Given the description of an element on the screen output the (x, y) to click on. 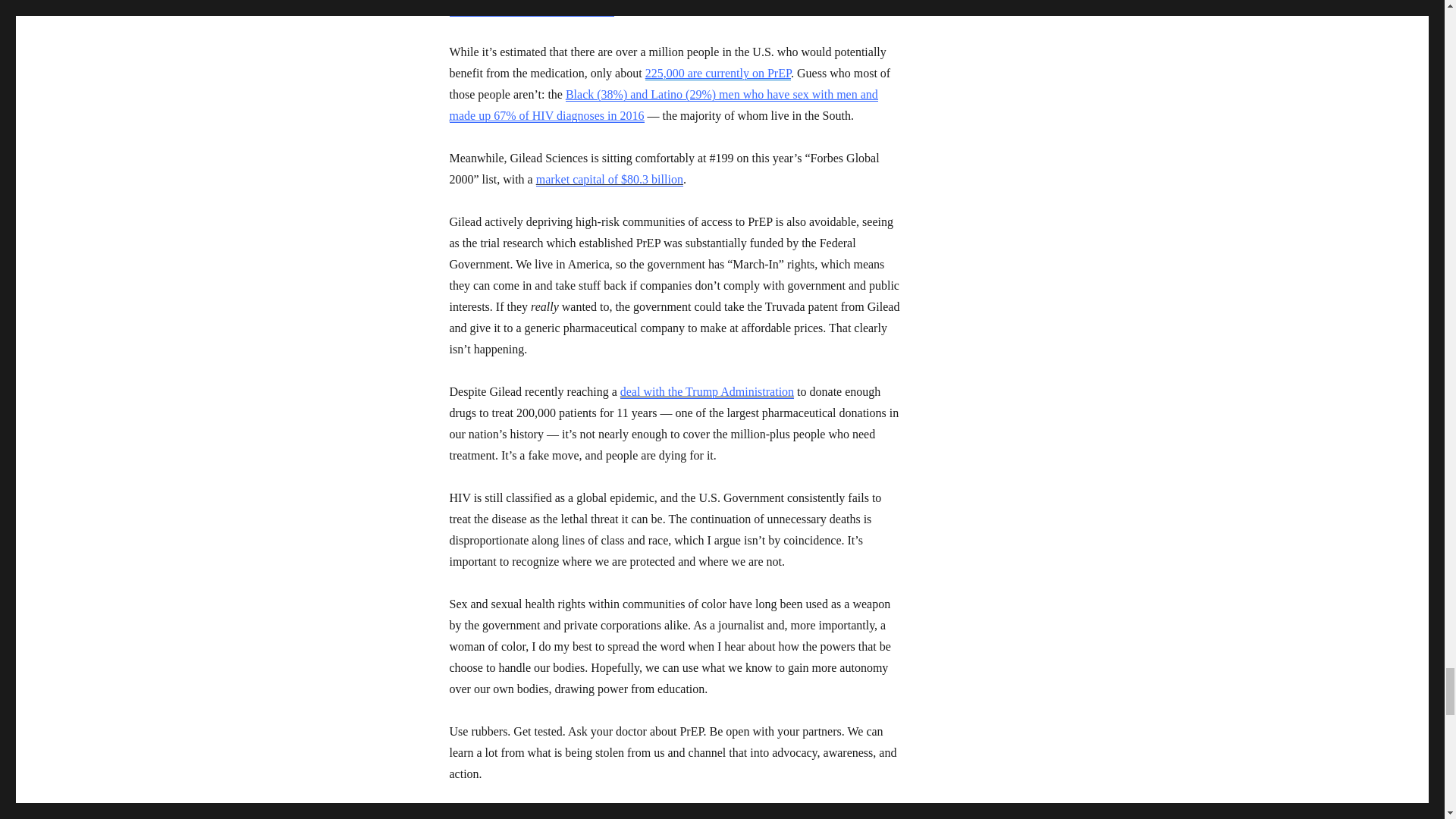
225,000 are currently on PrEP (717, 72)
but only by one company and in 2020 (674, 7)
deal with the Trump Administration (706, 391)
